Given the description of an element on the screen output the (x, y) to click on. 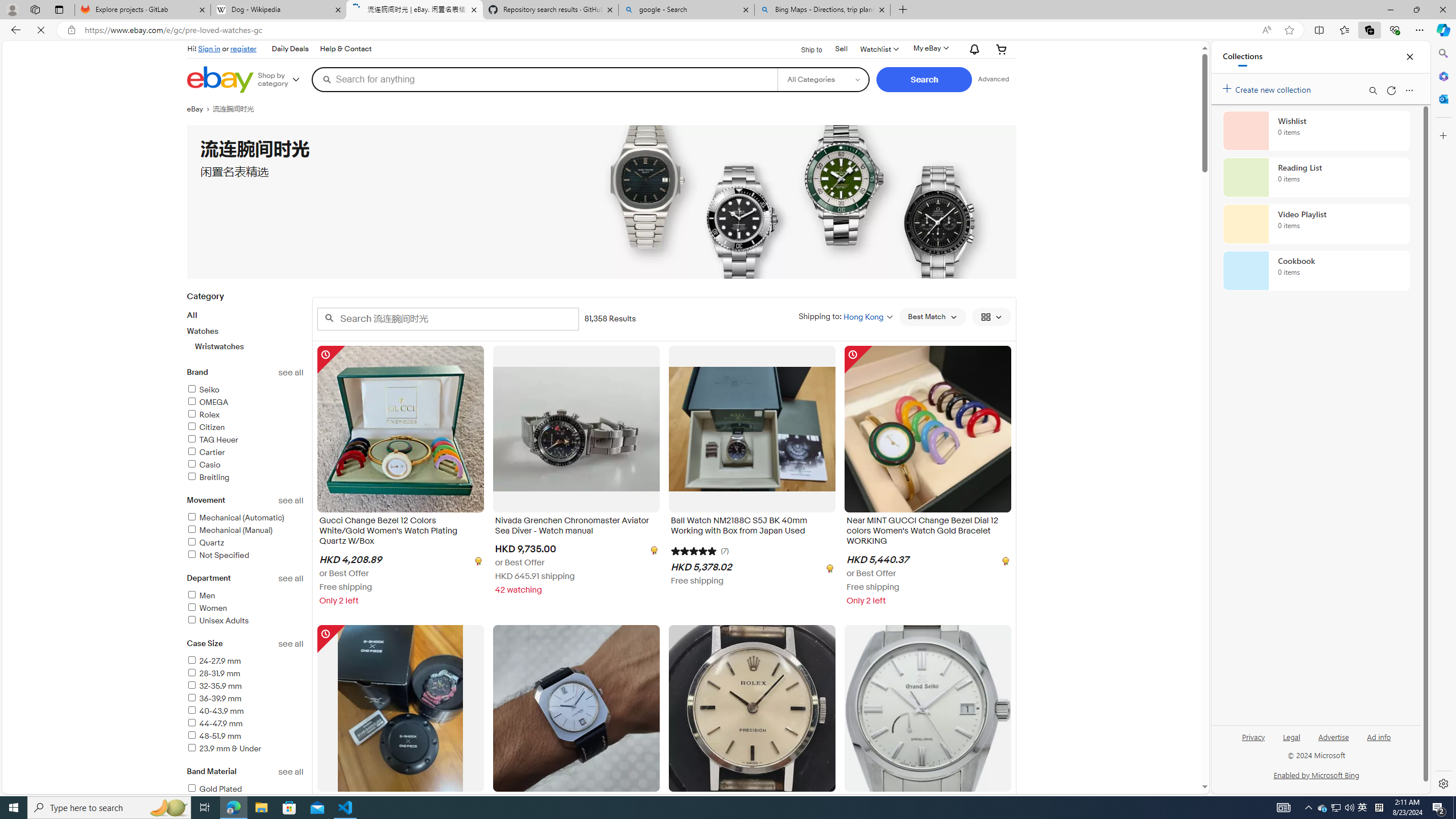
Shop by category (282, 79)
Legal (1292, 741)
Watchlist (878, 48)
Cookbook collection, 0 items (1316, 270)
Reading List collection, 0 items (1316, 177)
Sell (841, 48)
